Given the description of an element on the screen output the (x, y) to click on. 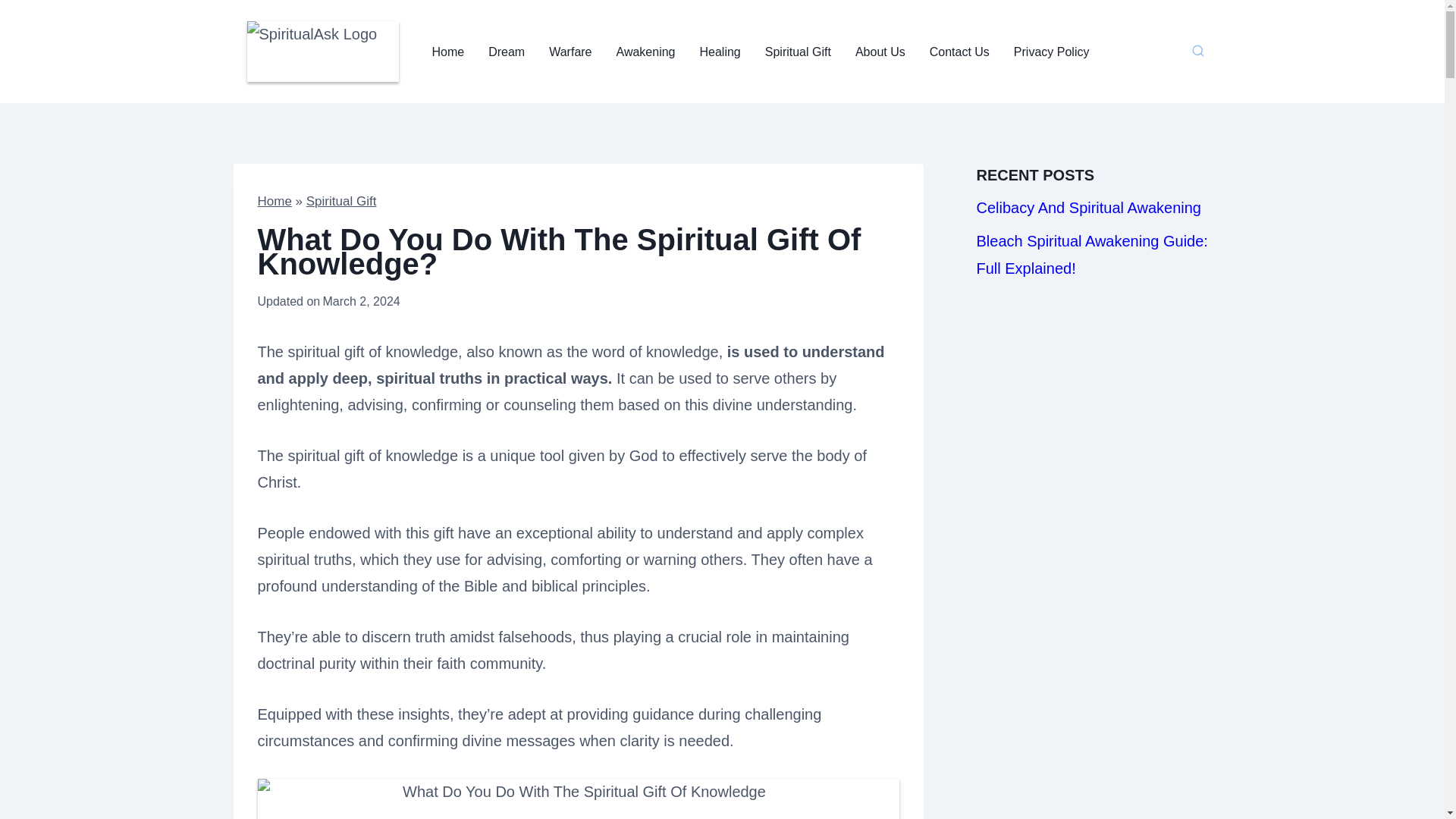
Privacy Policy (1051, 51)
Healing (719, 51)
Contact Us (959, 51)
Home (448, 51)
Home (274, 201)
Dream (506, 51)
Warfare (570, 51)
About Us (880, 51)
Spiritual Gift (341, 201)
Spiritual Gift (797, 51)
